Given the description of an element on the screen output the (x, y) to click on. 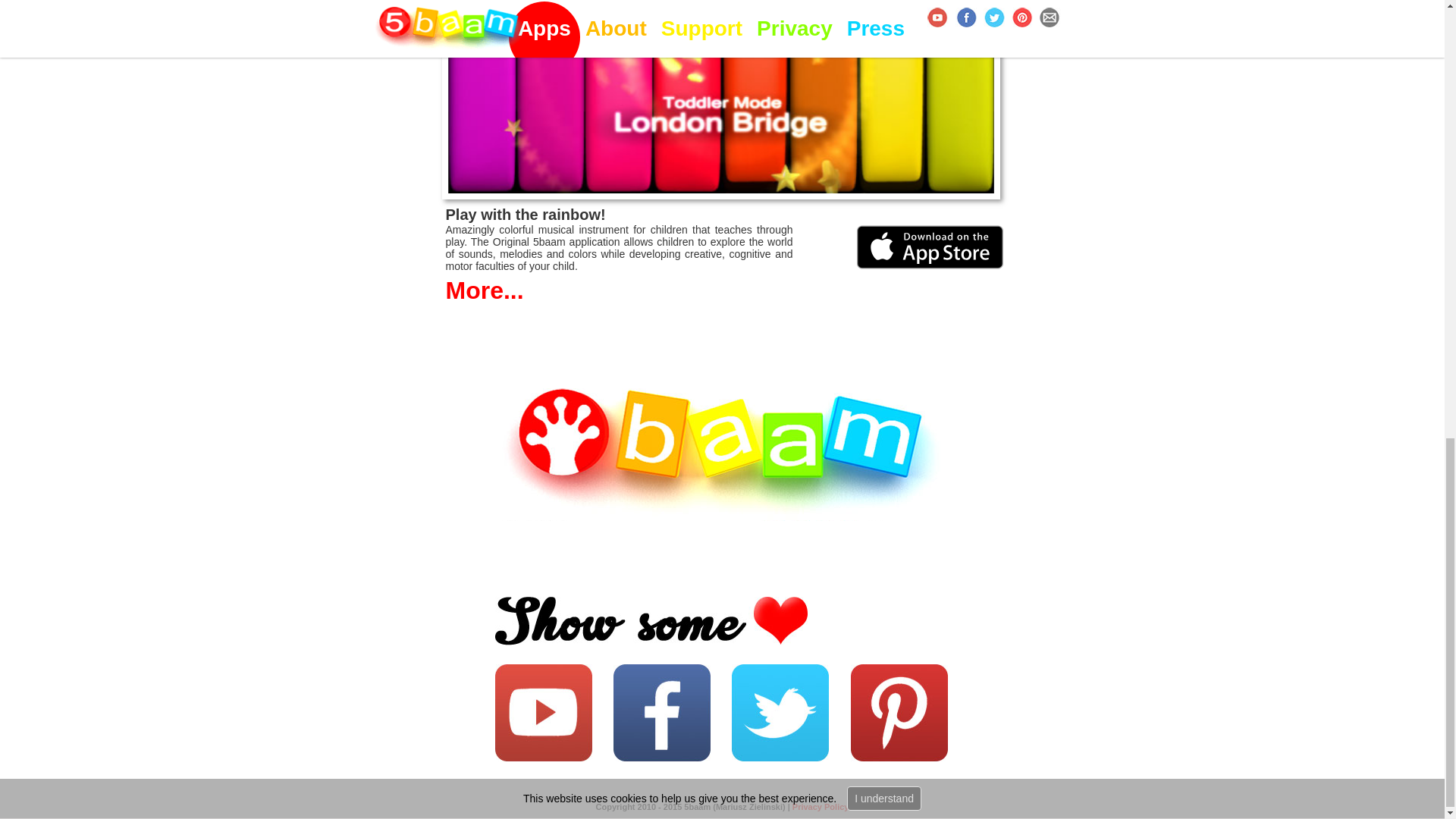
More... (758, 290)
